Given the description of an element on the screen output the (x, y) to click on. 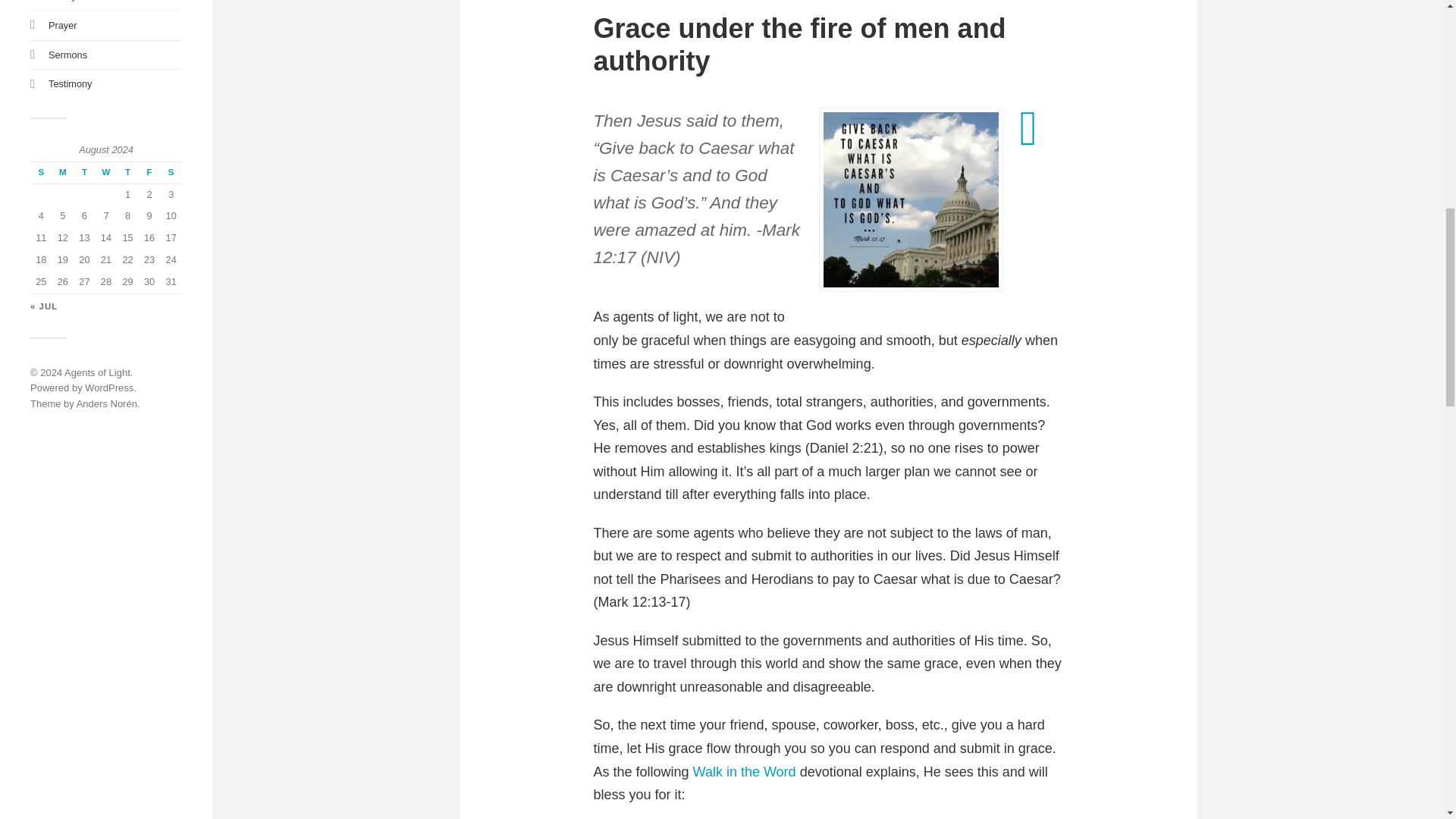
Thursday (127, 172)
Tuesday (85, 172)
Poetry (62, 0)
Prayer (62, 25)
Friday (149, 172)
Sunday (41, 172)
Monday (63, 172)
Walk in the Word (744, 771)
WordPress (108, 387)
Sermons (67, 54)
Wednesday (106, 172)
Saturday (171, 172)
Testimony (69, 83)
Agents of Light (97, 372)
